Given the description of an element on the screen output the (x, y) to click on. 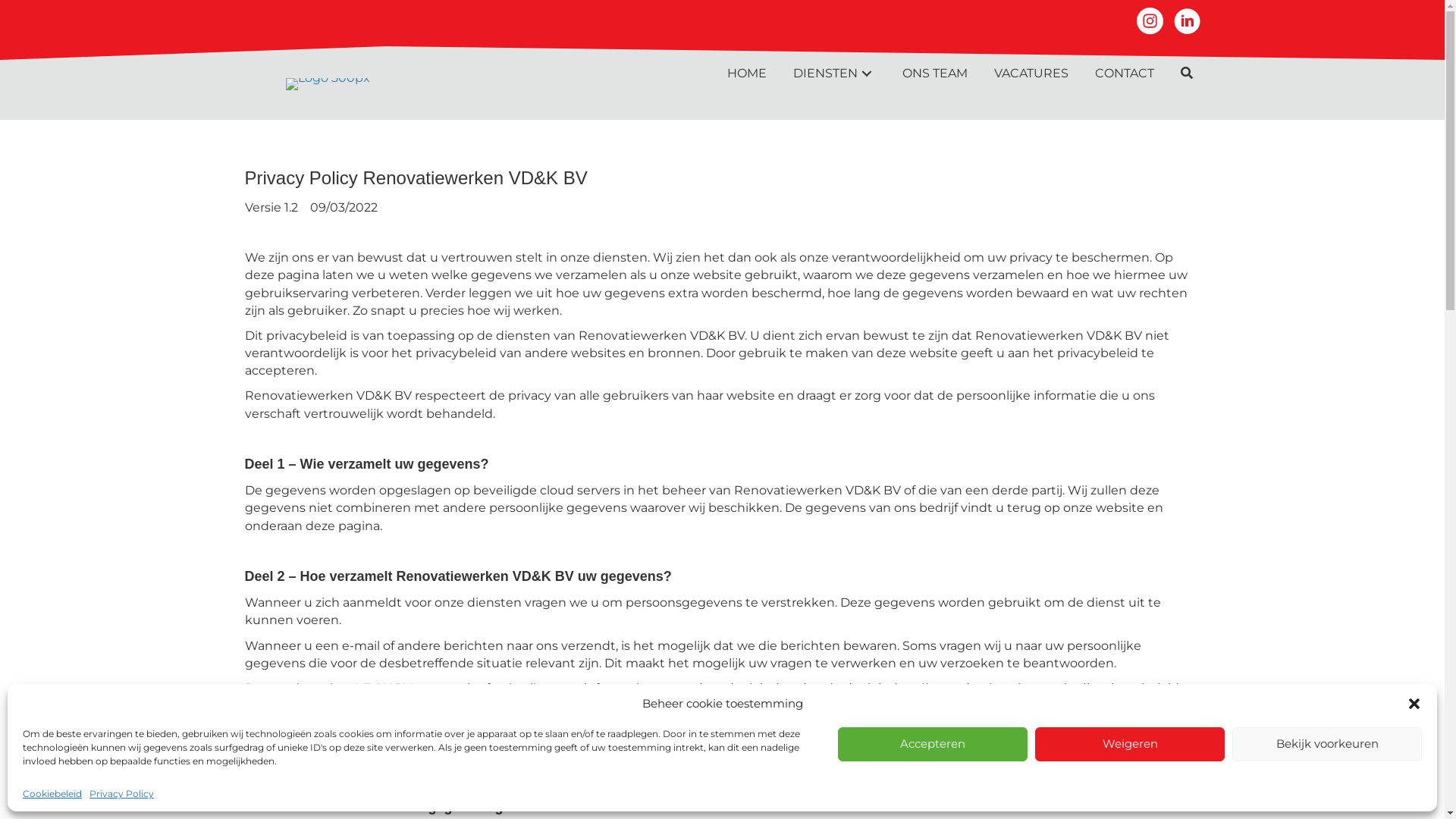
Cookiebeleid Element type: text (51, 793)
VACATURES Element type: text (1030, 72)
Logo 500px Element type: hover (327, 84)
HOME Element type: text (745, 72)
Cookie policy Element type: text (751, 755)
Privacy Policy Element type: text (121, 793)
CONTACT Element type: text (1124, 72)
Weigeren Element type: text (1129, 744)
DIENSTEN Element type: text (834, 72)
ONS TEAM Element type: text (934, 72)
Bekijk voorkeuren Element type: text (1326, 744)
Accepteren Element type: text (932, 744)
